Given the description of an element on the screen output the (x, y) to click on. 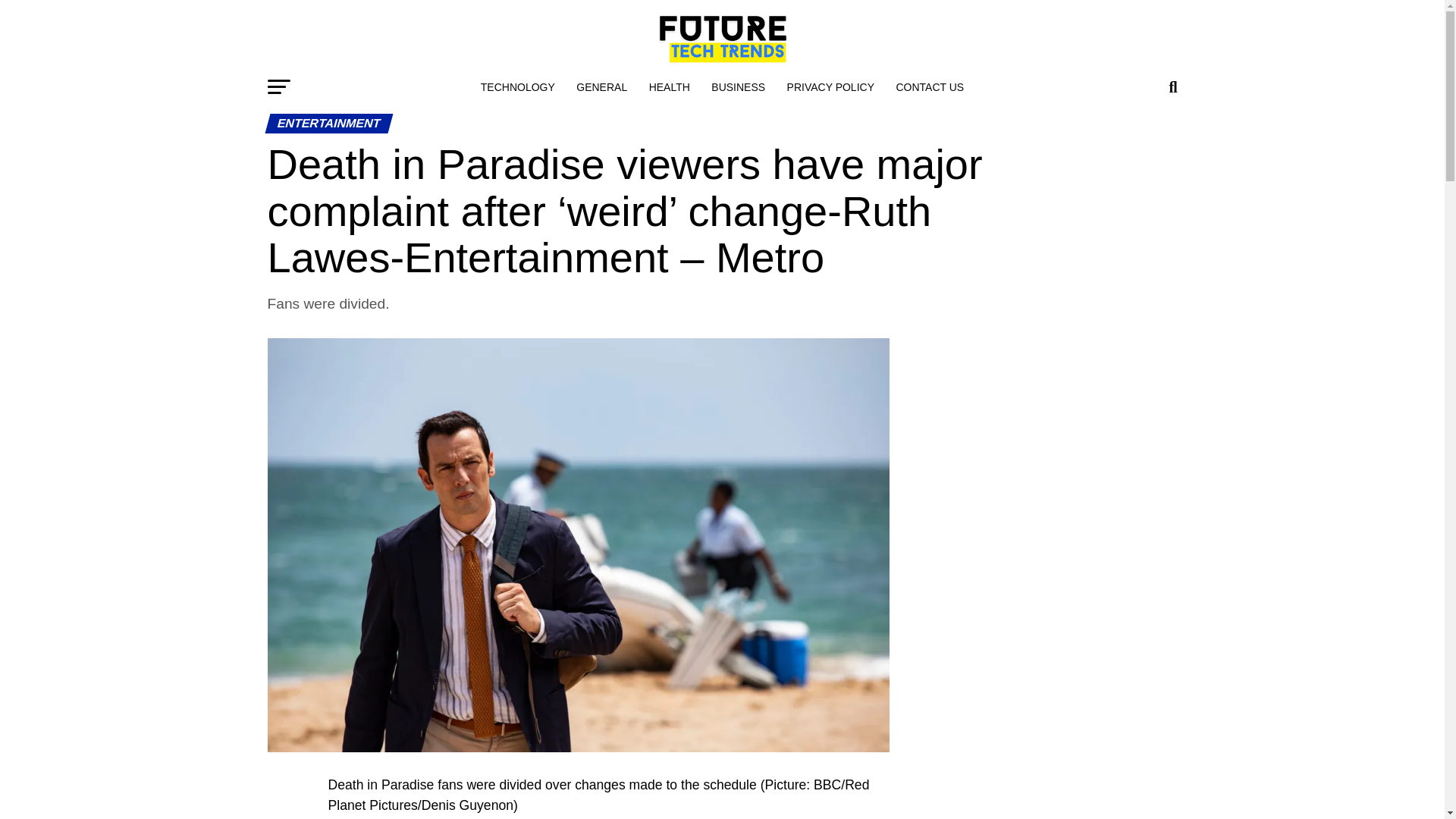
TECHNOLOGY (517, 86)
CONTACT US (929, 86)
BUSINESS (737, 86)
PRIVACY POLICY (830, 86)
GENERAL (601, 86)
HEALTH (669, 86)
